Given the description of an element on the screen output the (x, y) to click on. 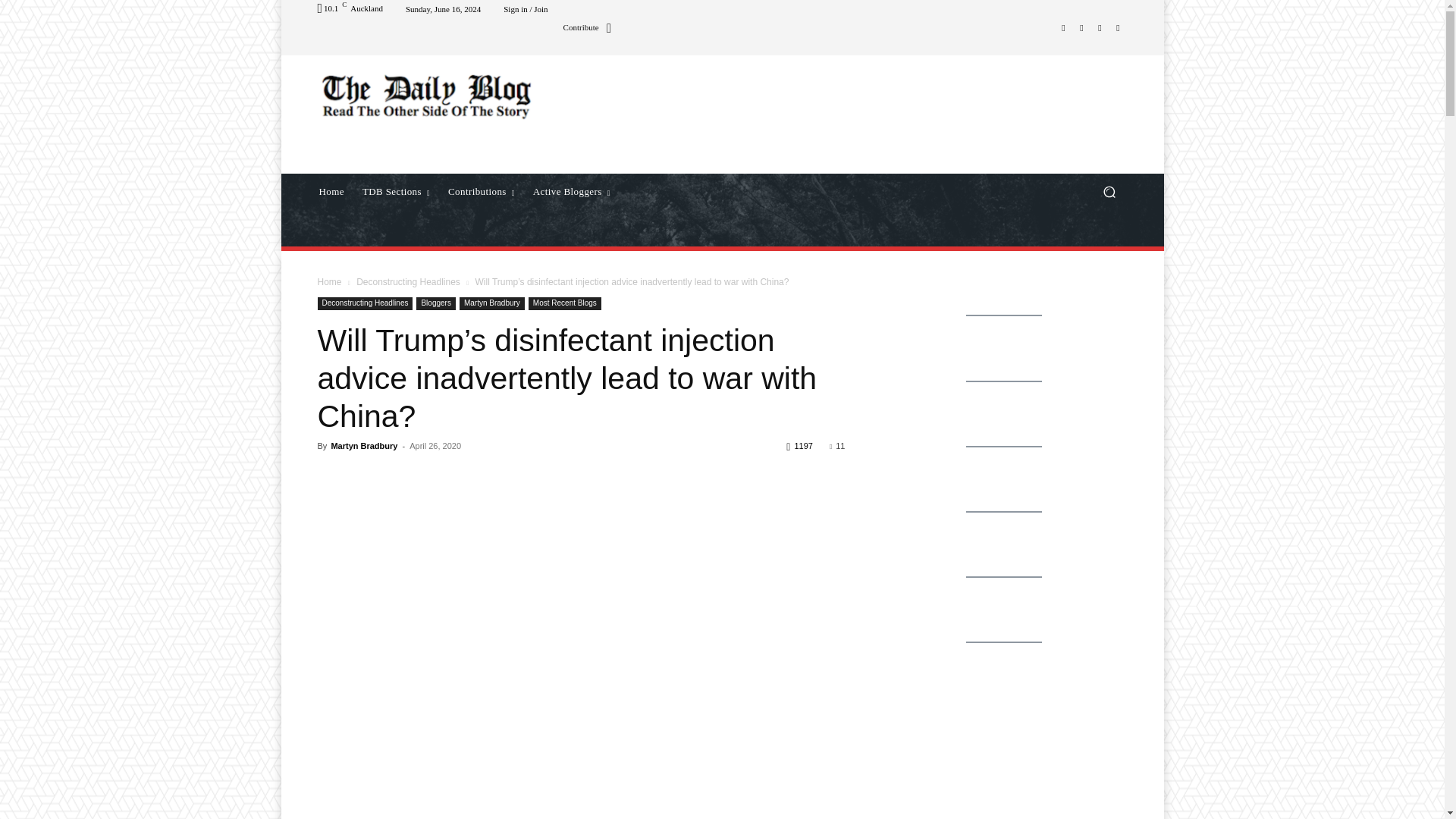
TDB Sections (396, 191)
Home (330, 191)
Contributions (481, 191)
Instagram (1080, 27)
Youtube (1117, 27)
Active Bloggers (572, 191)
Facebook (1062, 27)
View all posts in Deconstructing Headlines (408, 281)
Twitter (1099, 27)
